Given the description of an element on the screen output the (x, y) to click on. 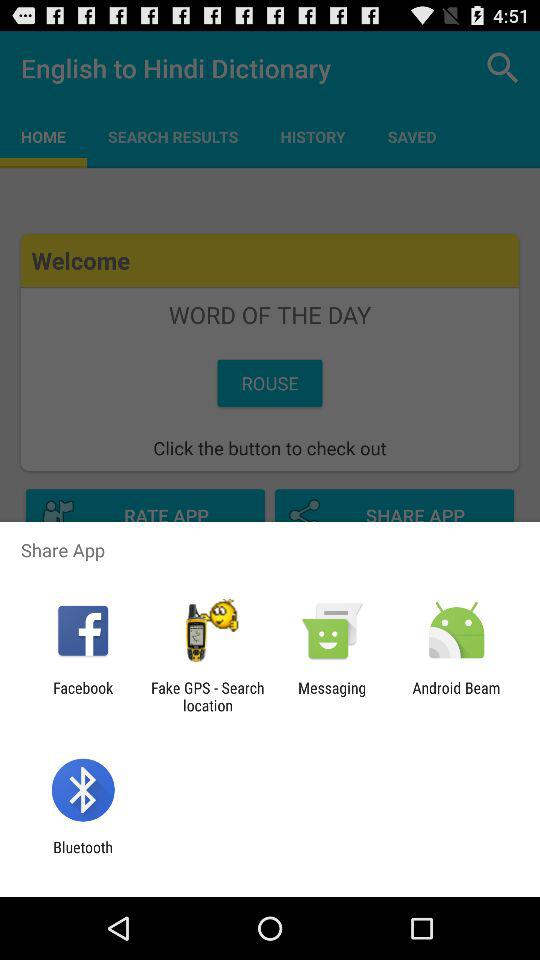
choose the icon next to the facebook app (207, 696)
